Given the description of an element on the screen output the (x, y) to click on. 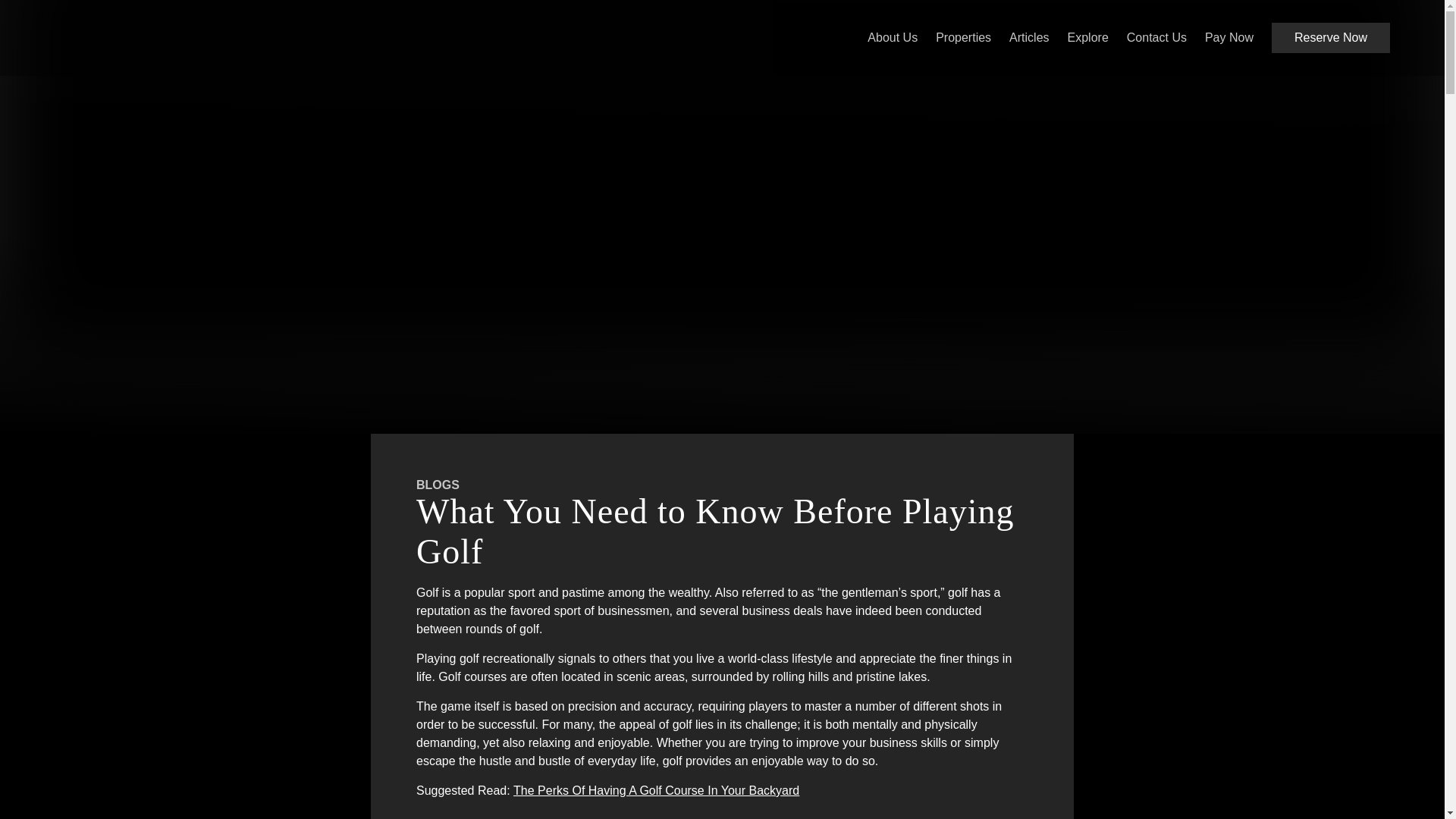
Reserve Now (1330, 37)
About Us (892, 37)
Contact Us (1156, 37)
Pay Now (1229, 37)
Explore (1087, 37)
Properties (963, 37)
Articles (1028, 37)
